Given the description of an element on the screen output the (x, y) to click on. 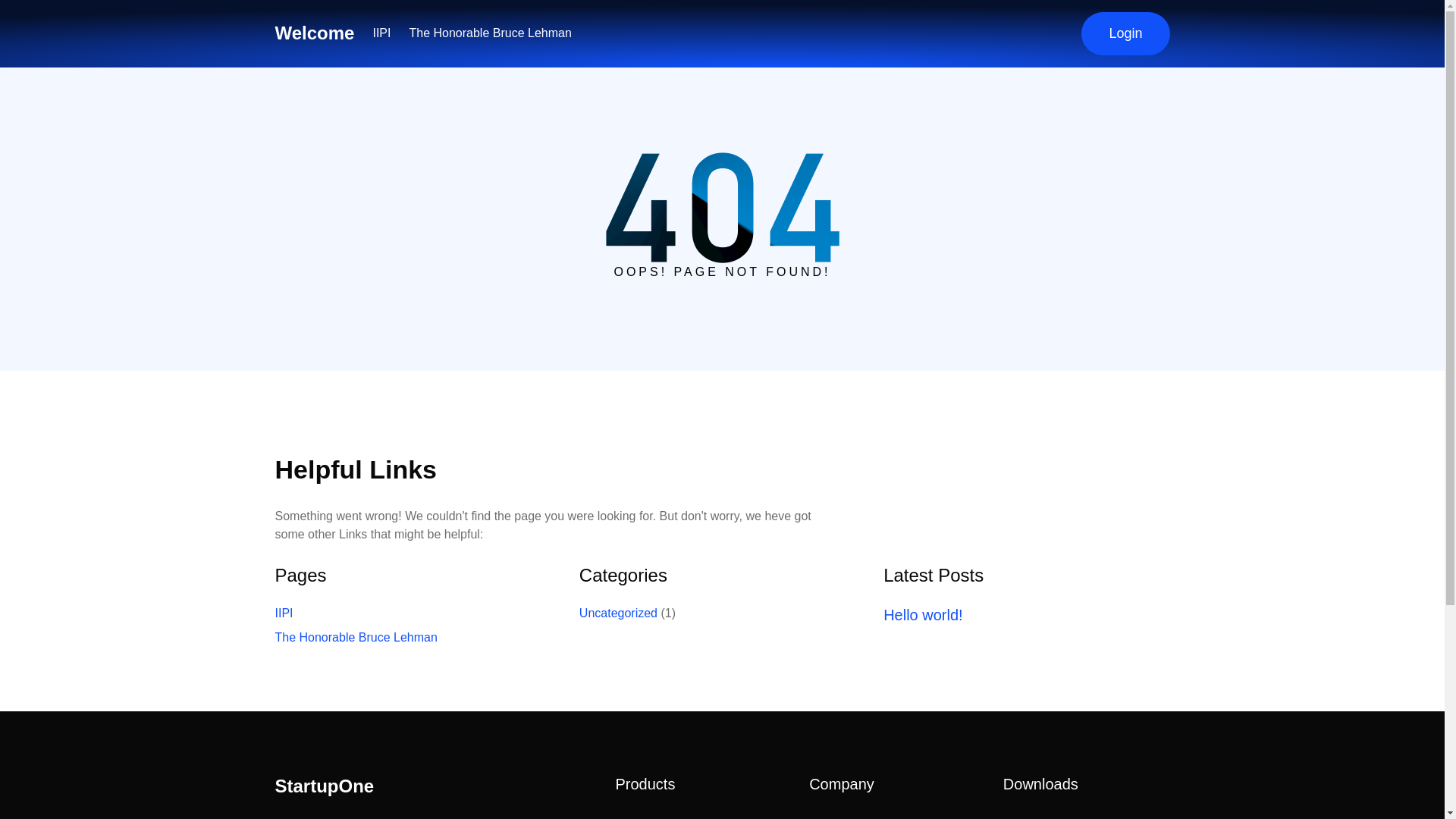
Hello world! (922, 614)
Uncategorized (618, 612)
The Honorable Bruce Lehman (489, 33)
Welcome (314, 32)
The Honorable Bruce Lehman (355, 636)
Login (1125, 33)
IIPI (381, 33)
IIPI (283, 612)
